Given the description of an element on the screen output the (x, y) to click on. 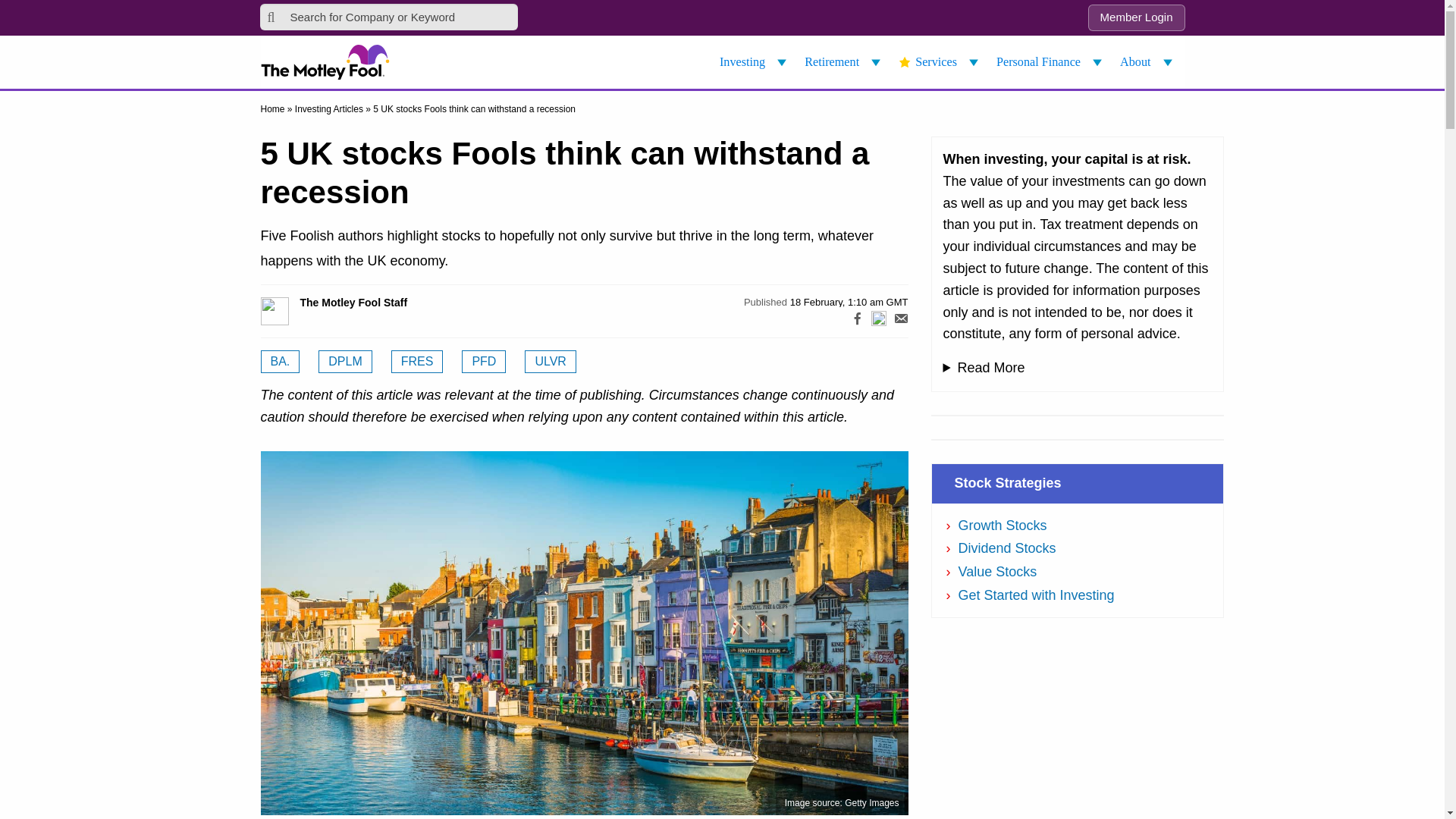
Investing (755, 62)
See more articles about ULVR (550, 361)
See more articles about BA. (279, 361)
Services (941, 62)
Retirement (844, 62)
See more articles about PFD (483, 361)
Member Login (1136, 17)
See more articles about FRES (417, 361)
See more articles about DPLM (344, 361)
